Given the description of an element on the screen output the (x, y) to click on. 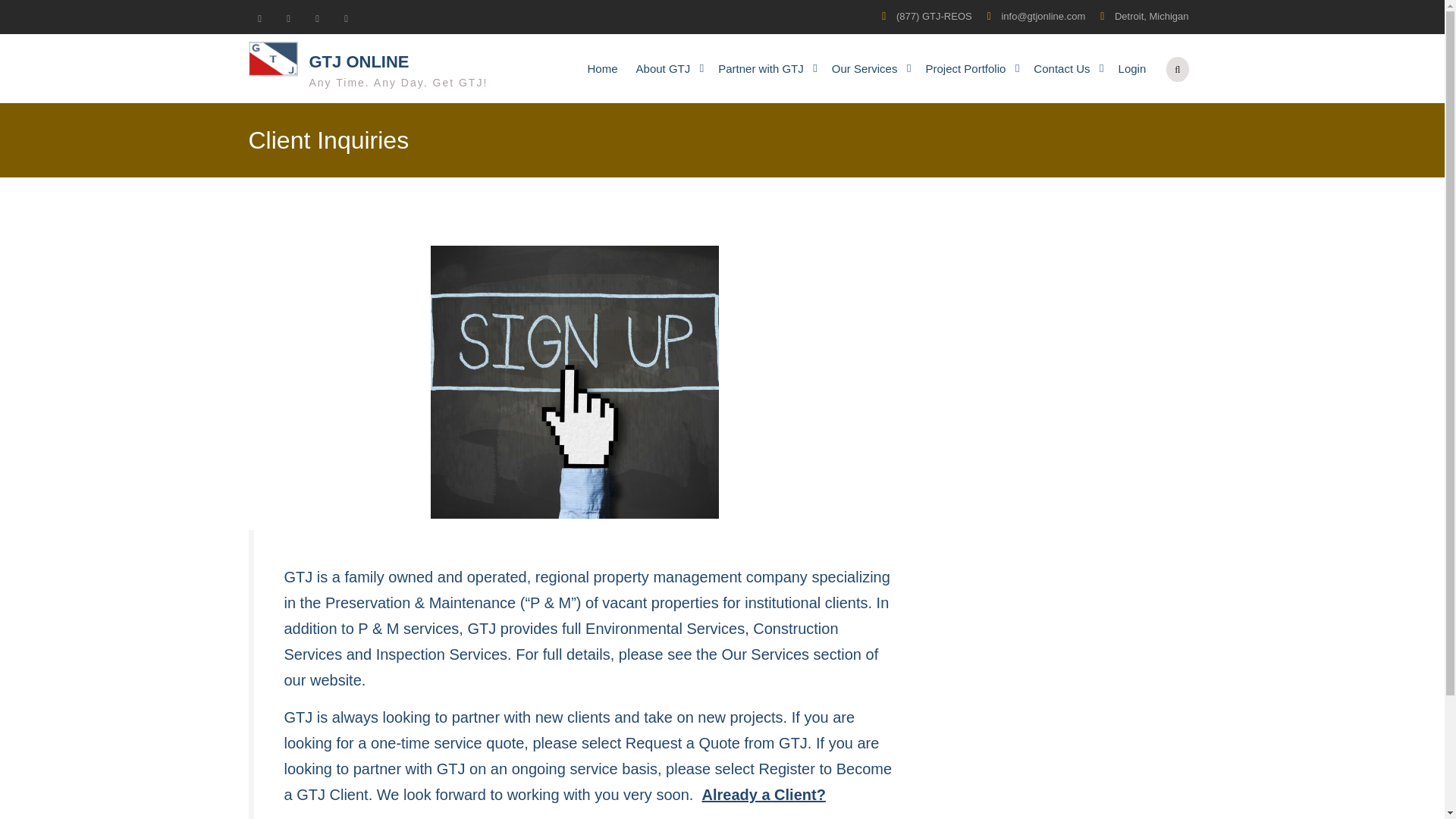
Twitter (259, 17)
LinkedIn (346, 17)
YouTube (317, 17)
FaceBook (288, 17)
